Given the description of an element on the screen output the (x, y) to click on. 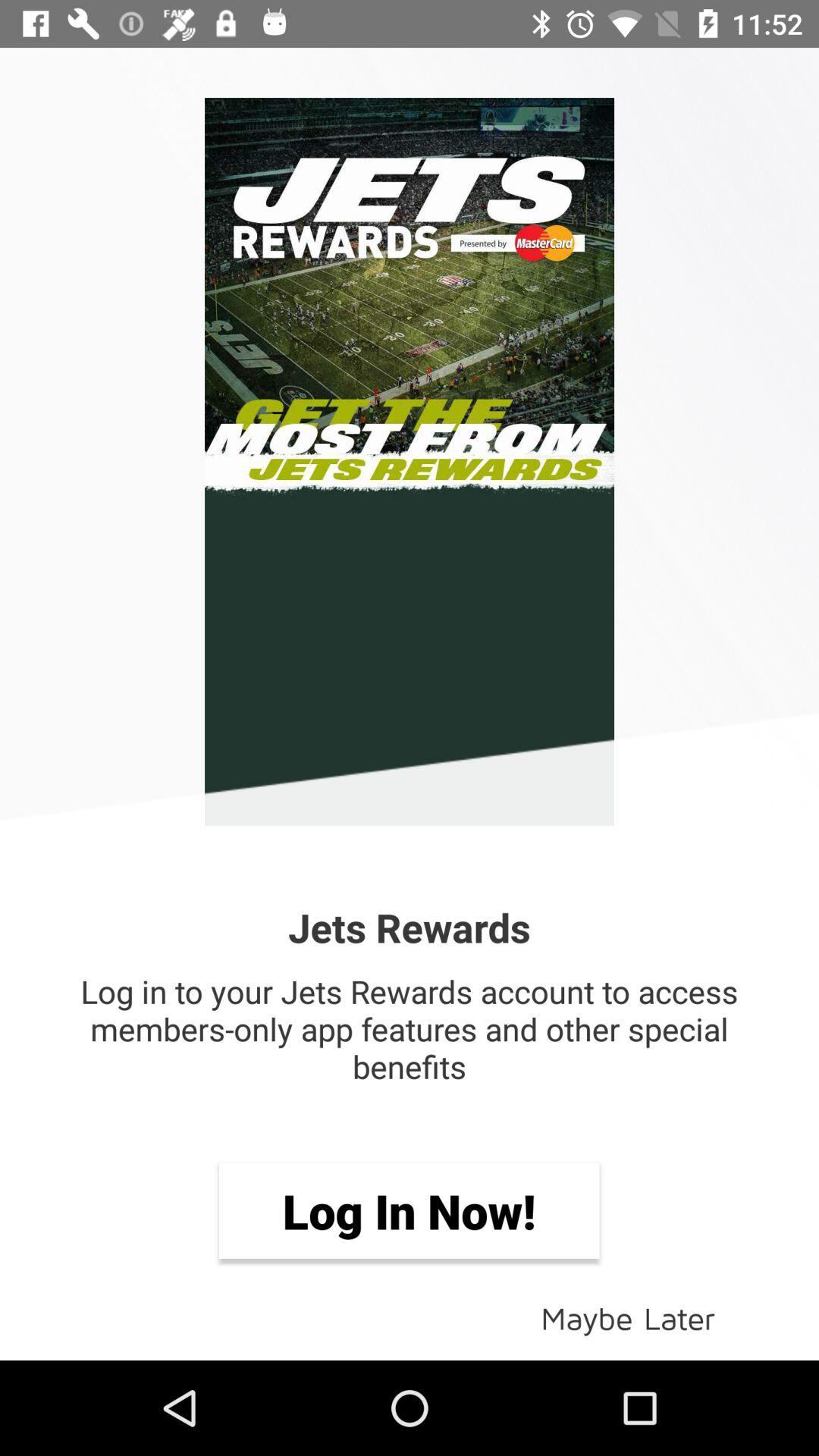
select the icon below the log in now! (627, 1317)
